Given the description of an element on the screen output the (x, y) to click on. 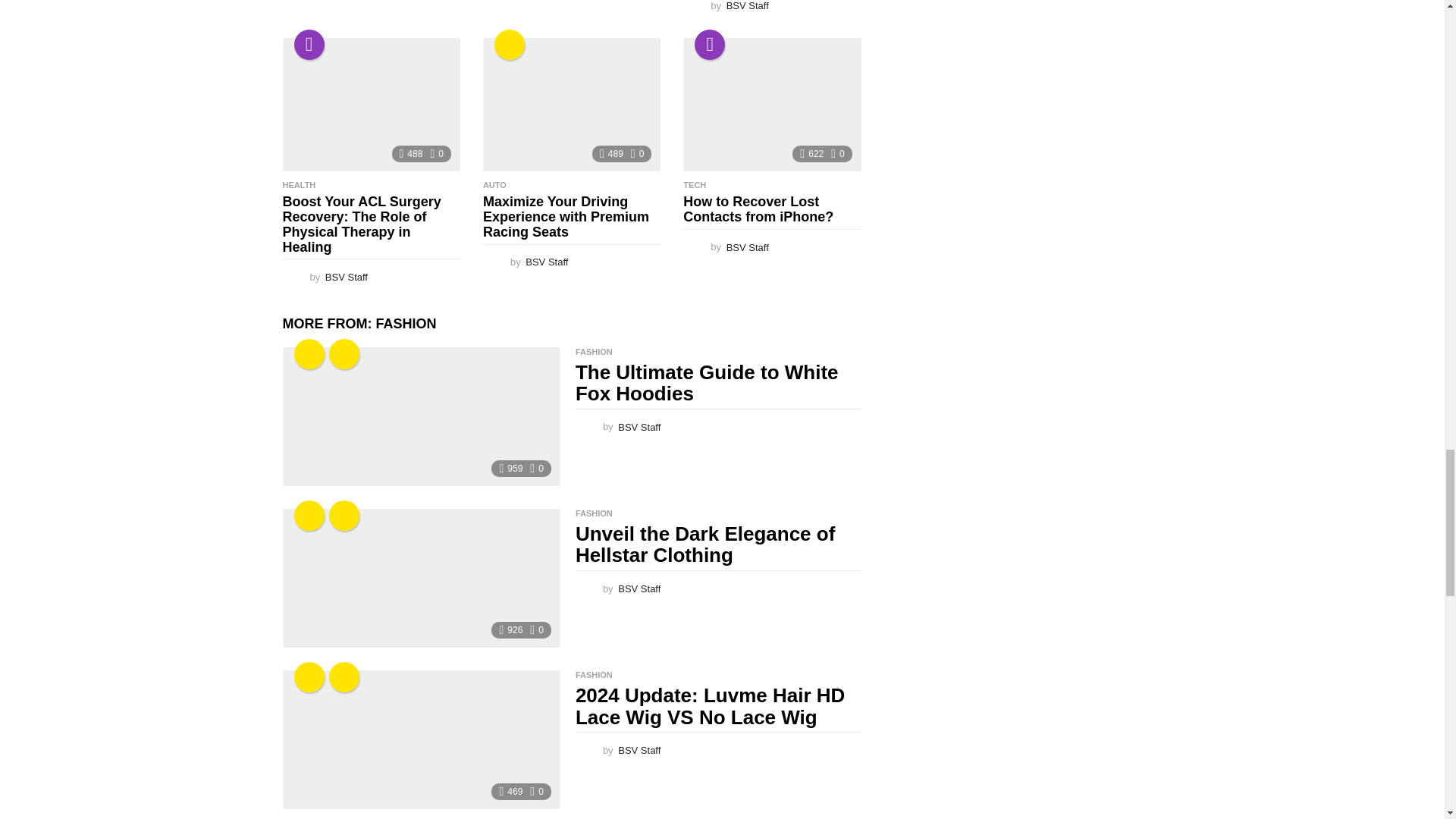
Trending (309, 44)
